Given the description of an element on the screen output the (x, y) to click on. 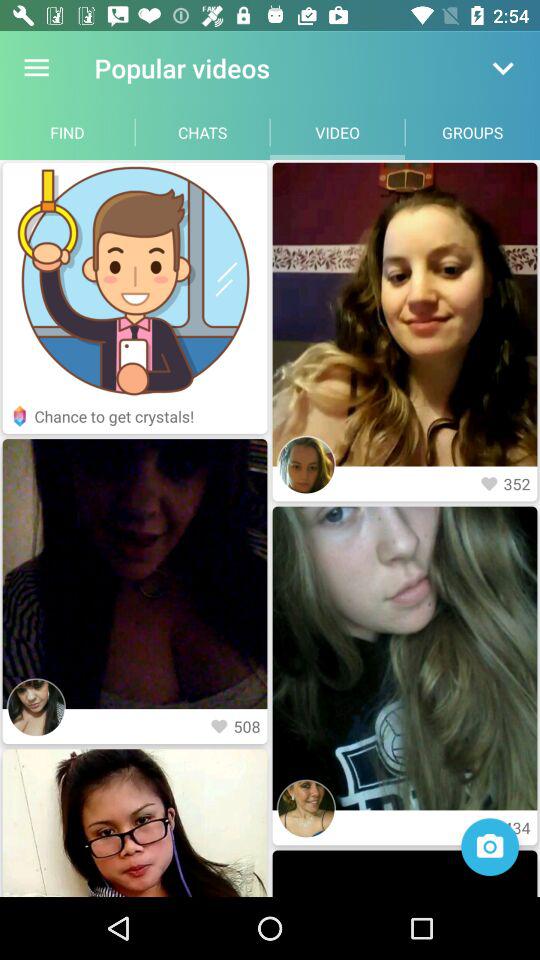
launch the icon to the right of find (202, 132)
